Given the description of an element on the screen output the (x, y) to click on. 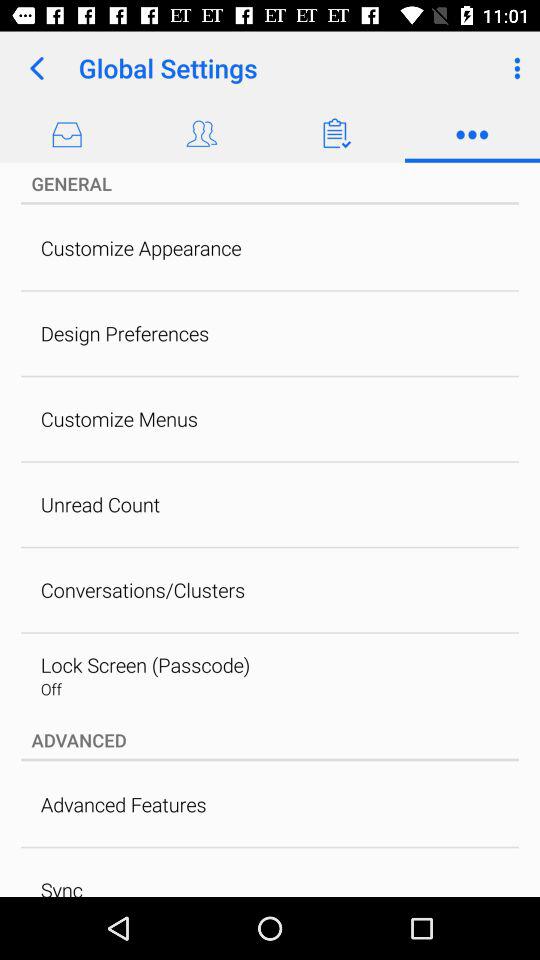
select conversations/clusters app (142, 589)
